Given the description of an element on the screen output the (x, y) to click on. 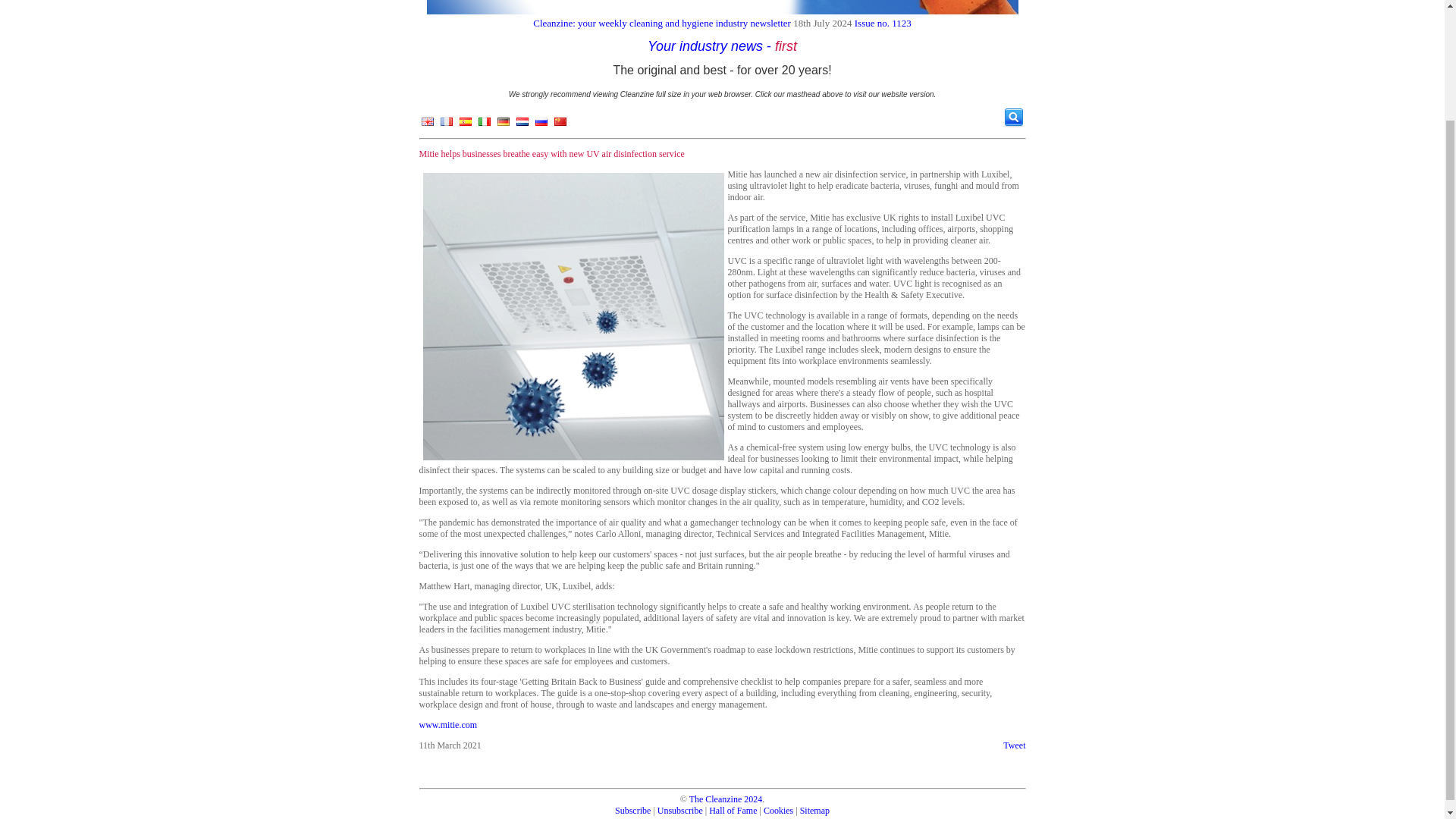
www.mitie.com (448, 724)
Translate to Italian (484, 124)
Translate to German (503, 124)
Translate to Russian (540, 124)
Sitemap (814, 810)
Translate to French (446, 124)
The Cleanzine (715, 798)
2024 (752, 798)
Tweet (1014, 745)
Translate to Spanish (465, 124)
Unsubscribe (680, 810)
Translate to Dutch (522, 124)
Cookies (777, 810)
Translate to Mandarin (560, 124)
Subscribe (632, 810)
